Given the description of an element on the screen output the (x, y) to click on. 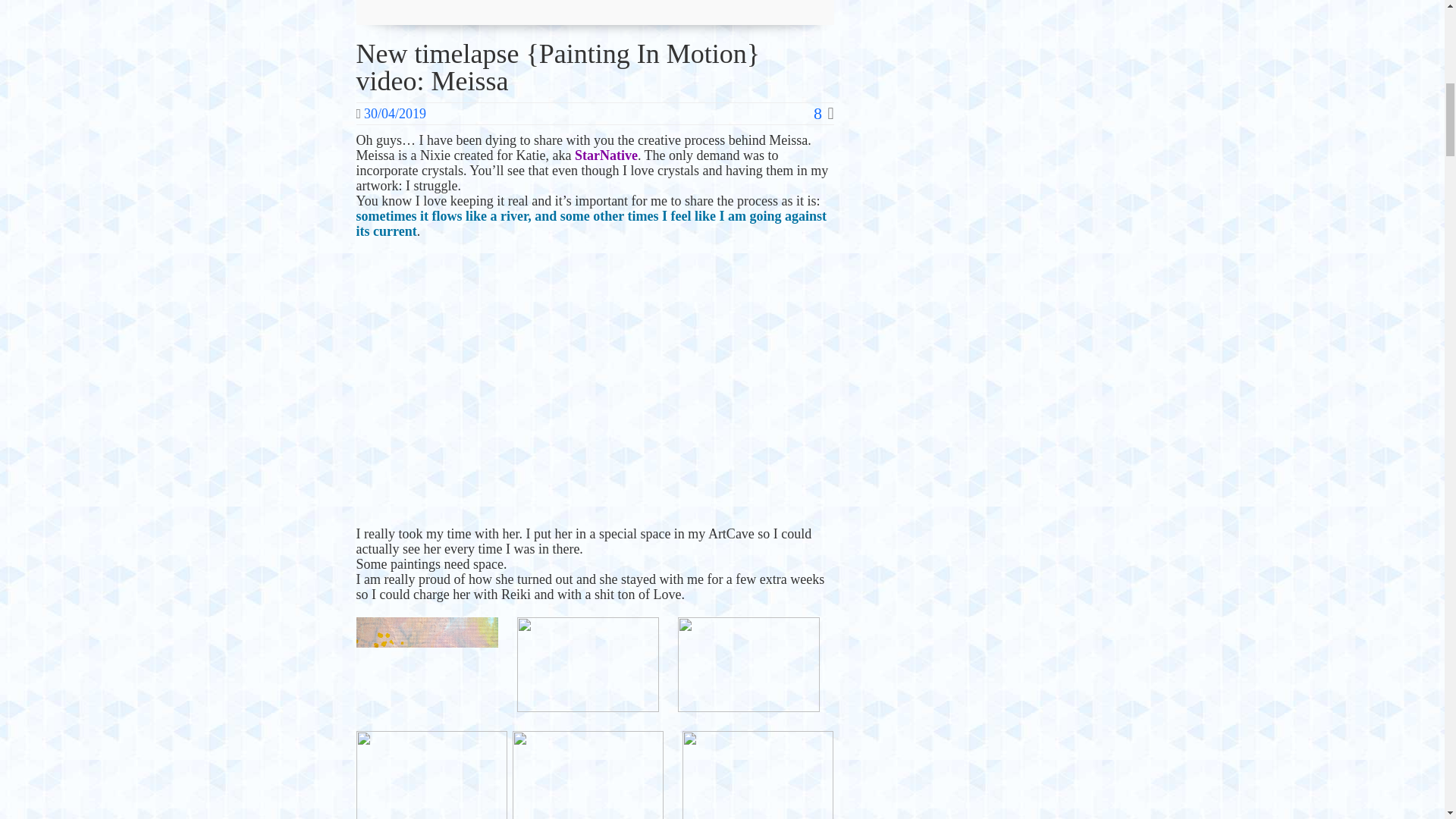
Painting In Motion: mixed media portrait, Meissa (595, 387)
StarNative (606, 155)
8 (823, 113)
